Given the description of an element on the screen output the (x, y) to click on. 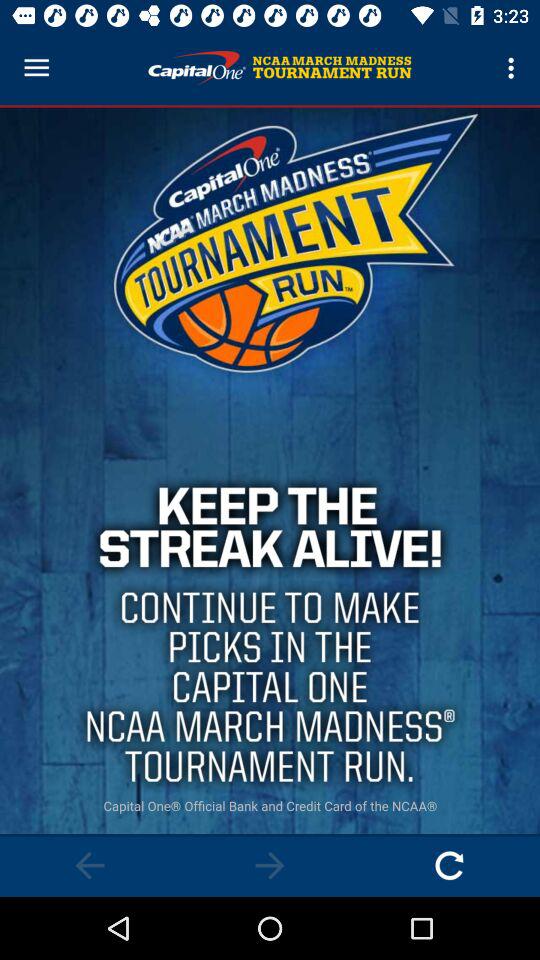
refresh (449, 865)
